Given the description of an element on the screen output the (x, y) to click on. 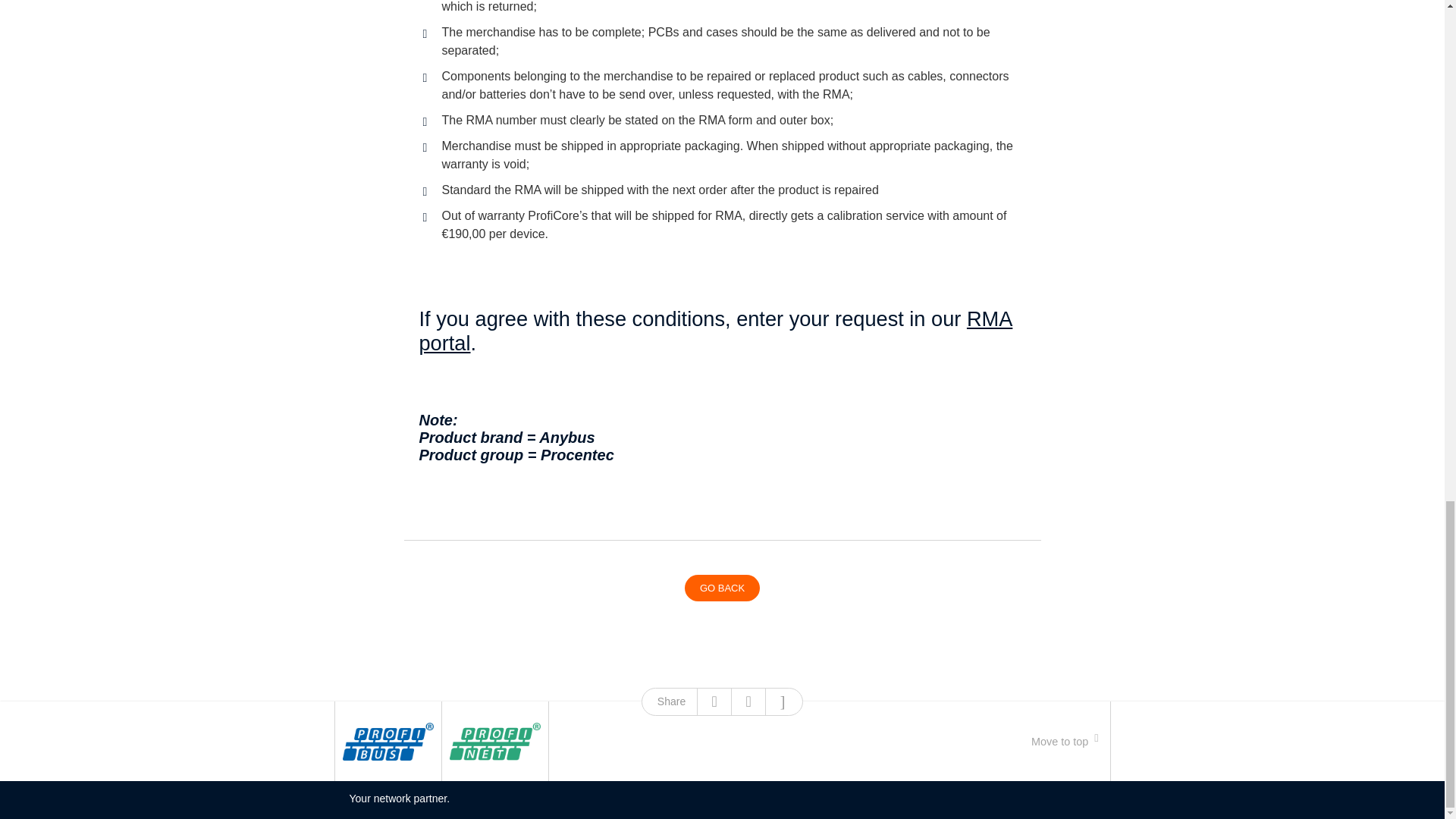
Support Portal (715, 330)
Mail (783, 701)
GO BACK (722, 587)
RMA portal (715, 330)
Facebook (713, 701)
Move to top (1063, 740)
Twitter (748, 701)
